Given the description of an element on the screen output the (x, y) to click on. 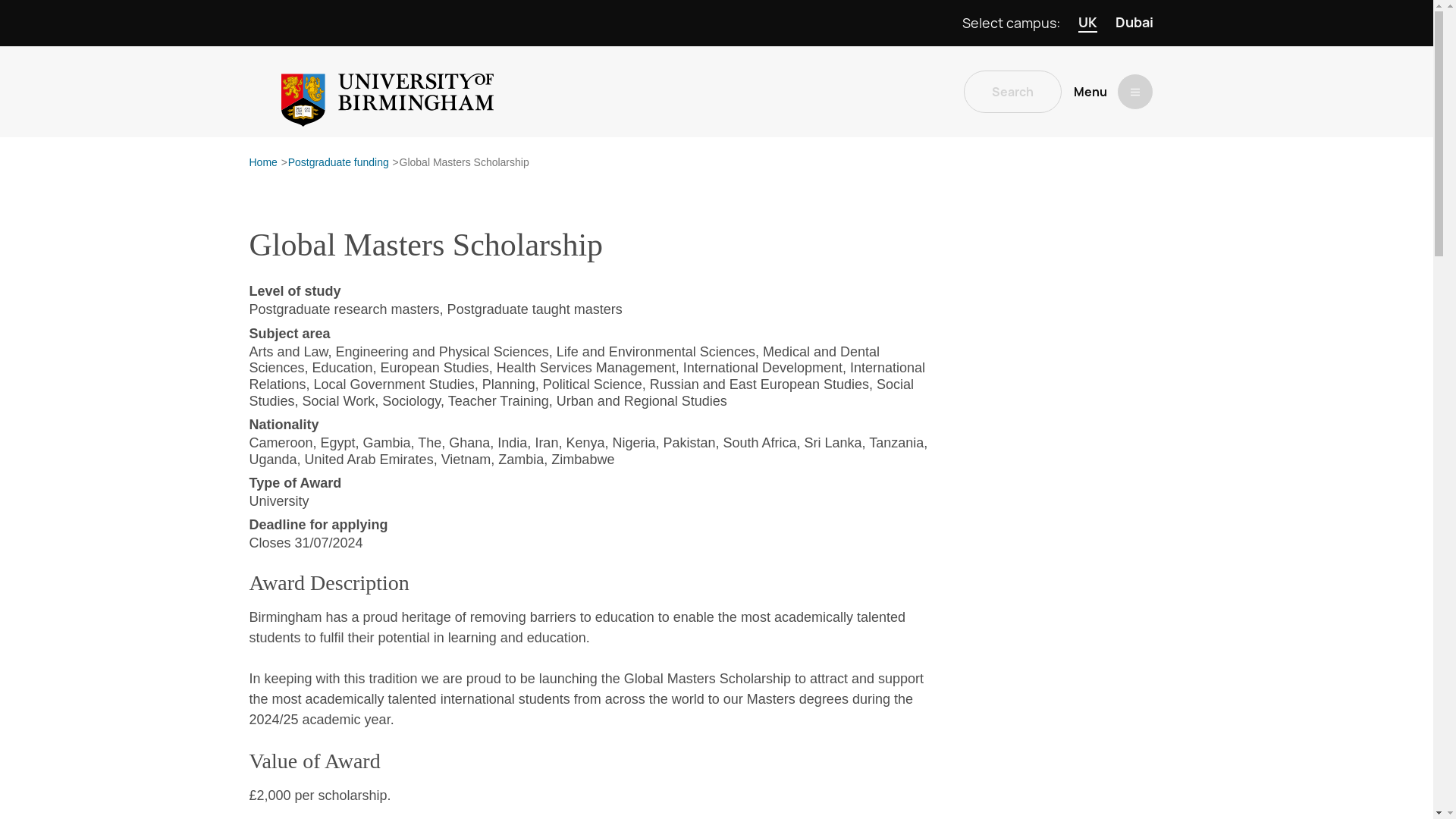
Home (262, 163)
Dubai (1134, 23)
Postgraduate funding (338, 163)
Search (1012, 91)
UK (1087, 23)
Global Masters Scholarship (463, 163)
